Given the description of an element on the screen output the (x, y) to click on. 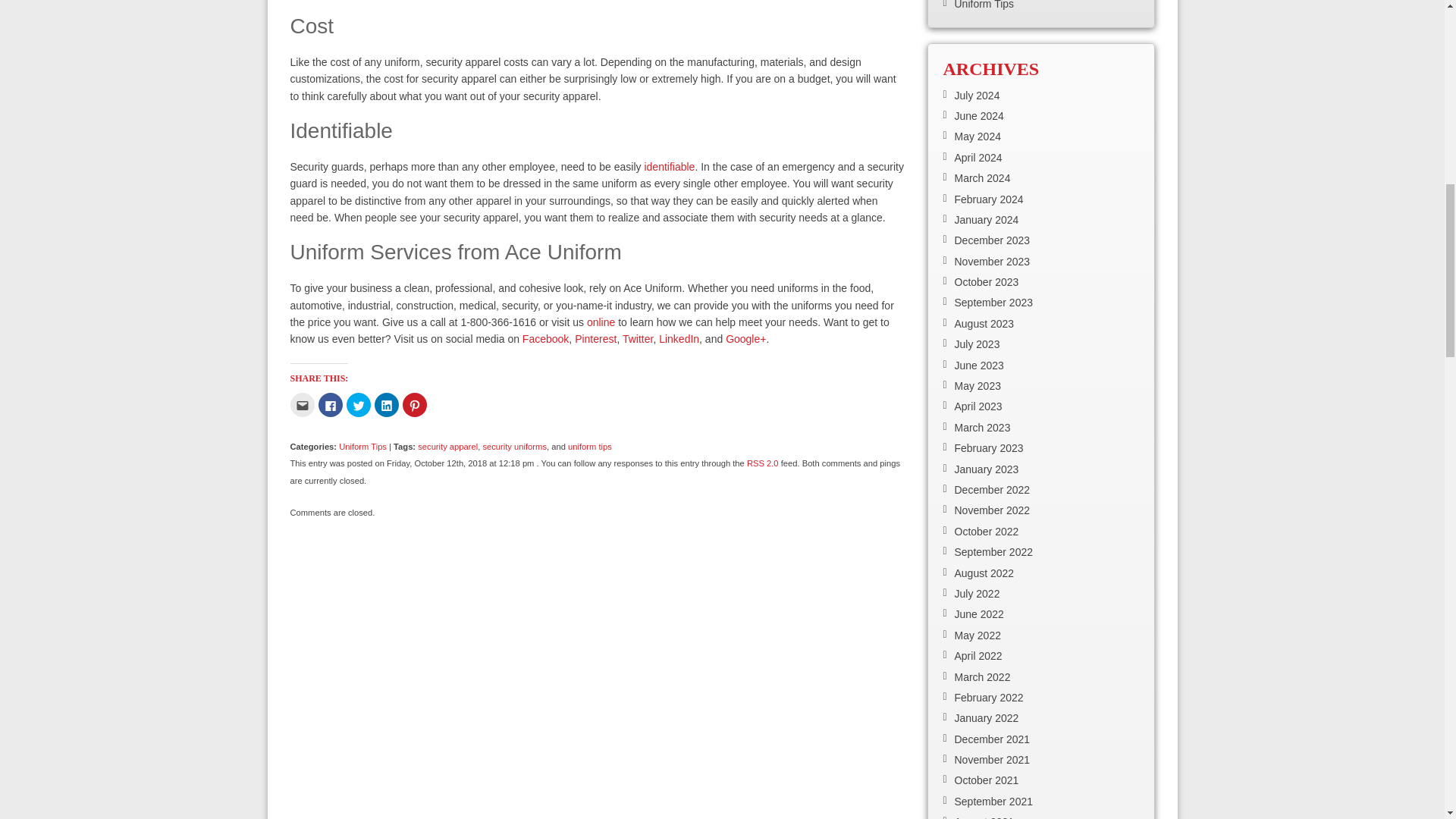
Click to share on Twitter (357, 404)
Click to share on Pinterest (413, 404)
Click to email this to a friend (301, 404)
Click to share on Facebook (330, 404)
Click to share on LinkedIn (386, 404)
